Given the description of an element on the screen output the (x, y) to click on. 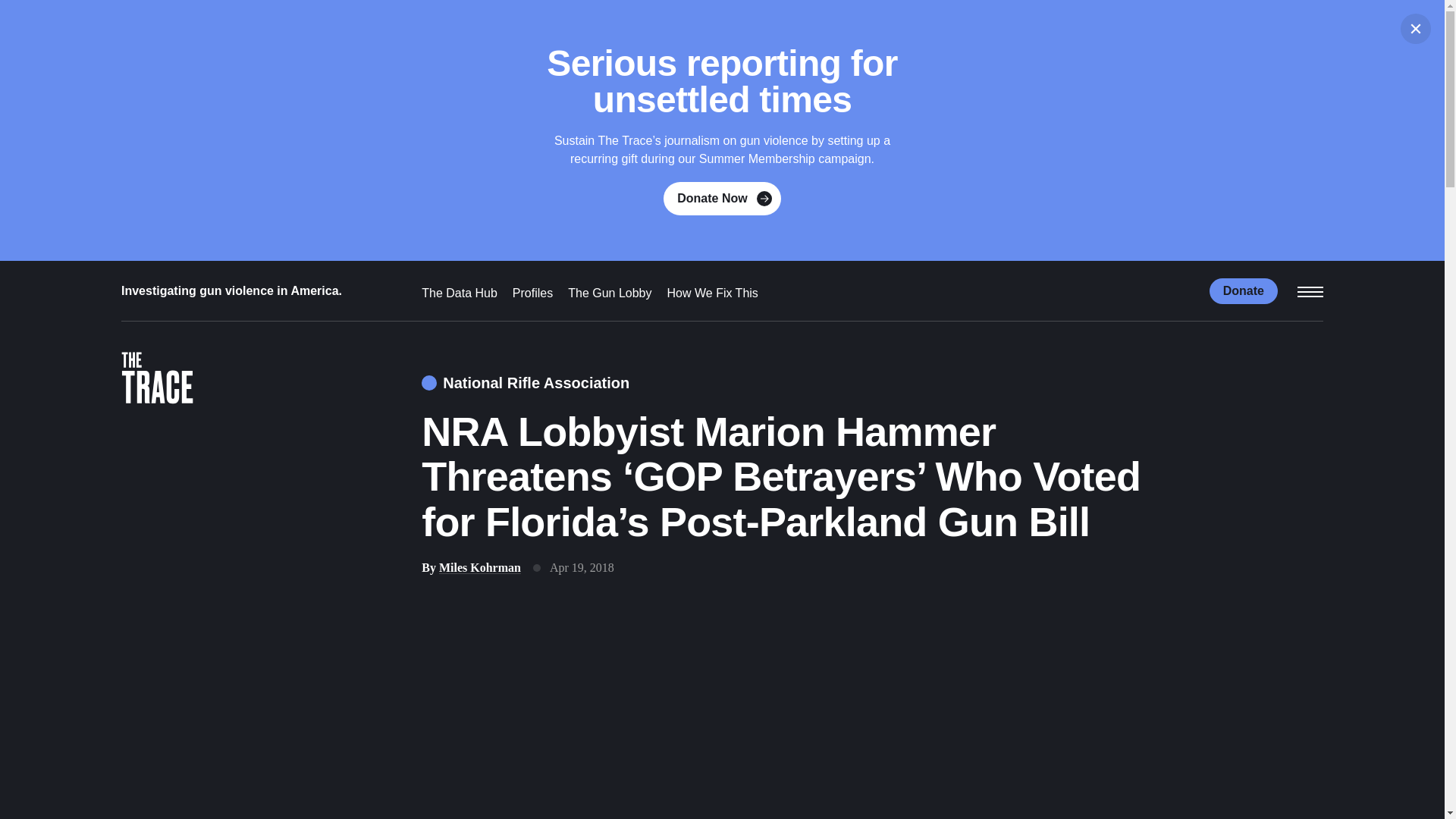
Close (1415, 28)
Donate Now (721, 198)
National Rifle Association (525, 383)
Donate (1243, 290)
The Gun Lobby (608, 292)
The Trace (156, 381)
Profiles (532, 292)
How We Fix This (712, 292)
Miles Kohrman (480, 567)
The Data Hub (459, 292)
